Given the description of an element on the screen output the (x, y) to click on. 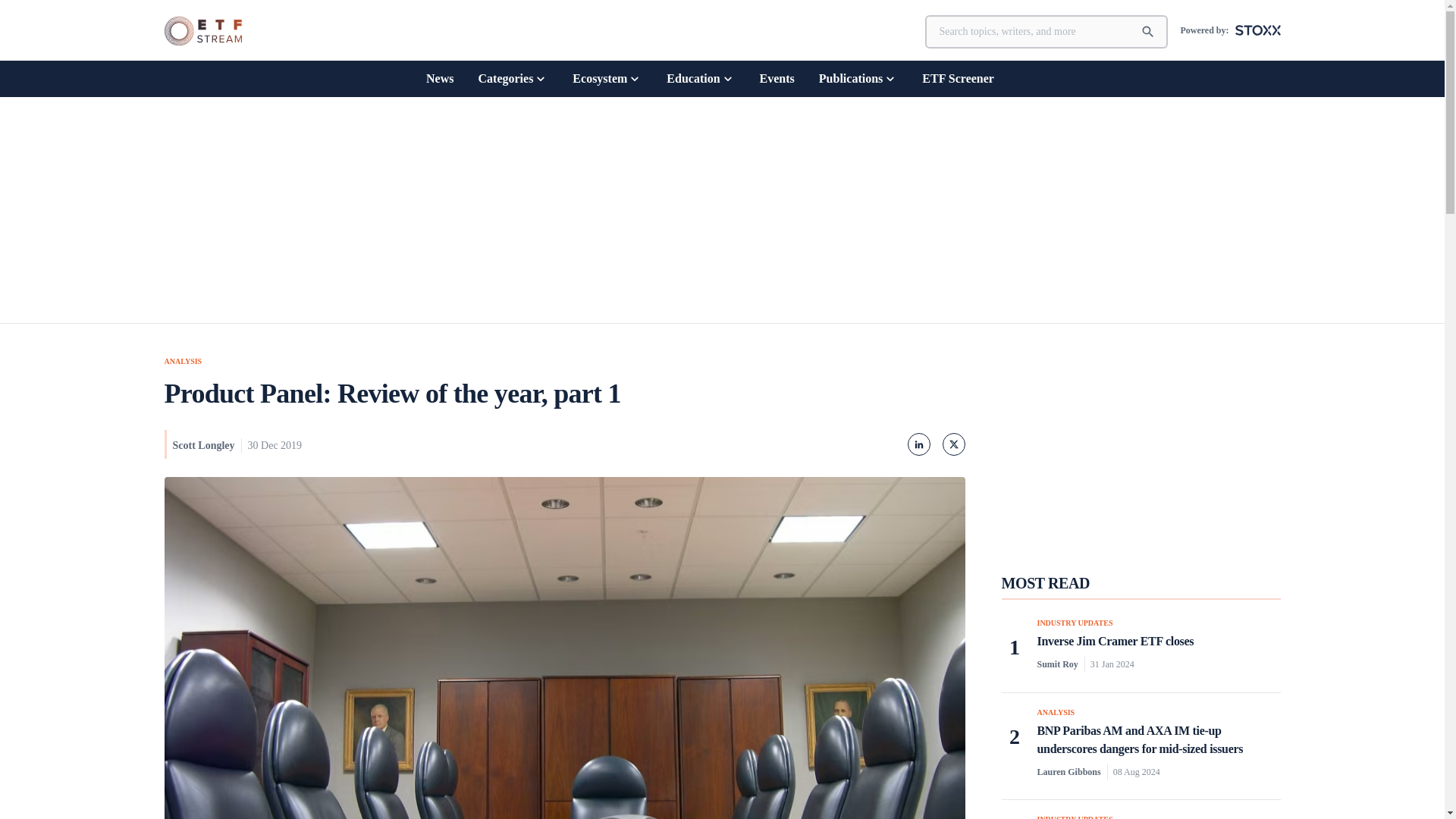
Education (700, 78)
ETF Screener (957, 78)
Events (777, 78)
Scott Longley (203, 445)
News (439, 78)
3rd party ad content (1139, 448)
